Given the description of an element on the screen output the (x, y) to click on. 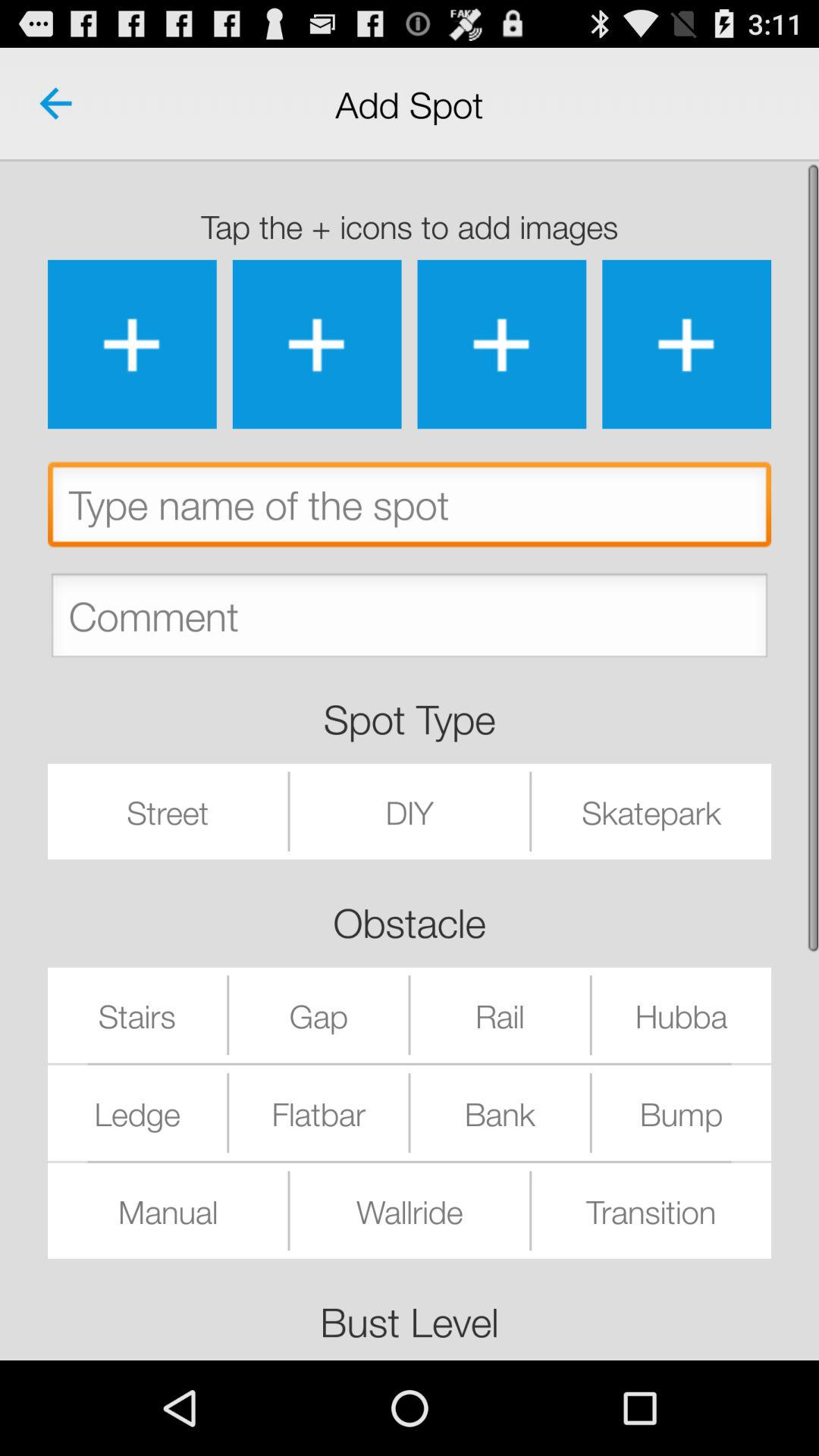
type name (409, 508)
